Given the description of an element on the screen output the (x, y) to click on. 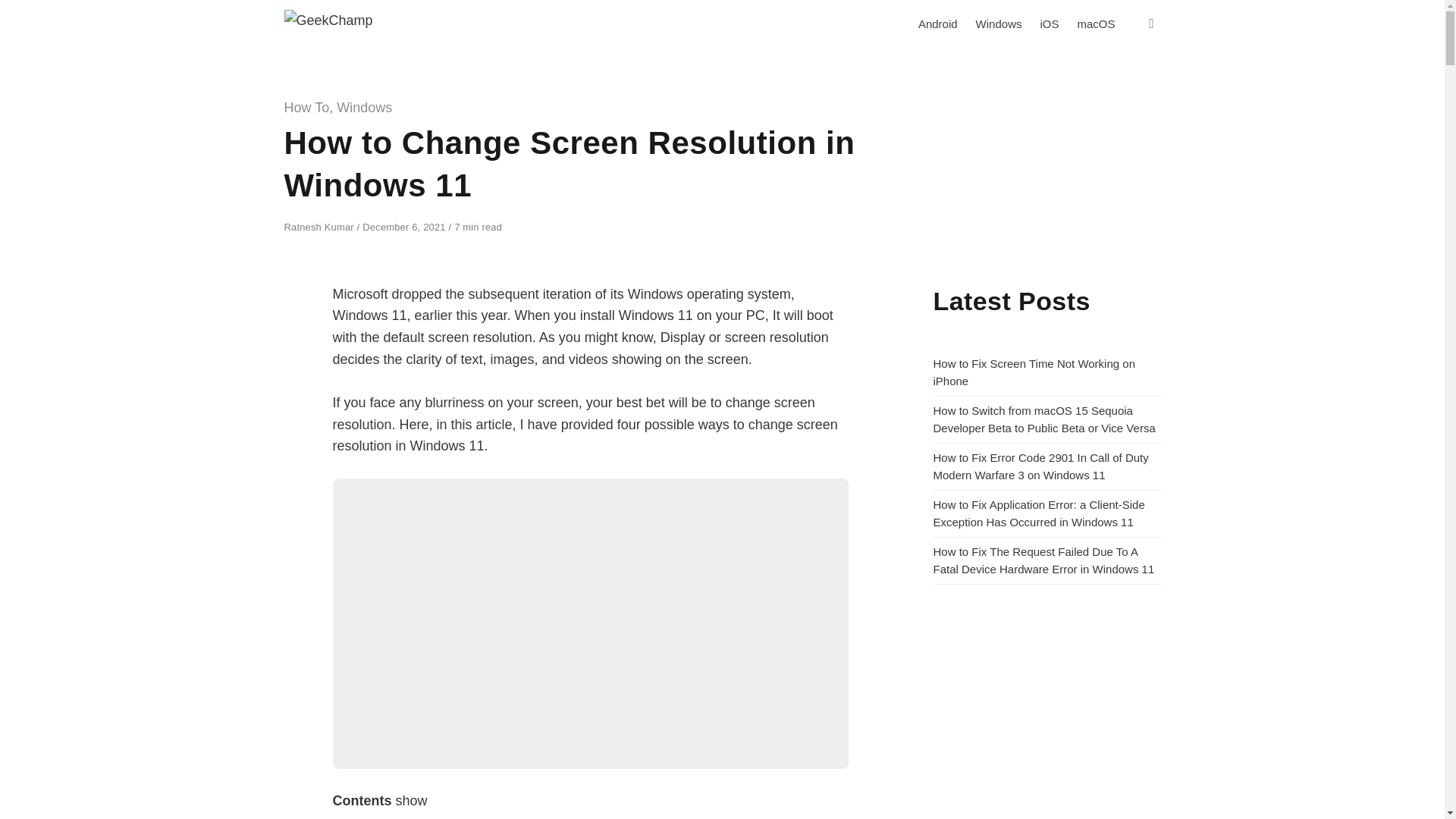
How to Fix Screen Time Not Working on iPhone (1033, 372)
Android (937, 24)
Ratnesh Kumar (319, 226)
macOS (1095, 24)
Windows (363, 107)
show (412, 800)
How To (306, 107)
